Given the description of an element on the screen output the (x, y) to click on. 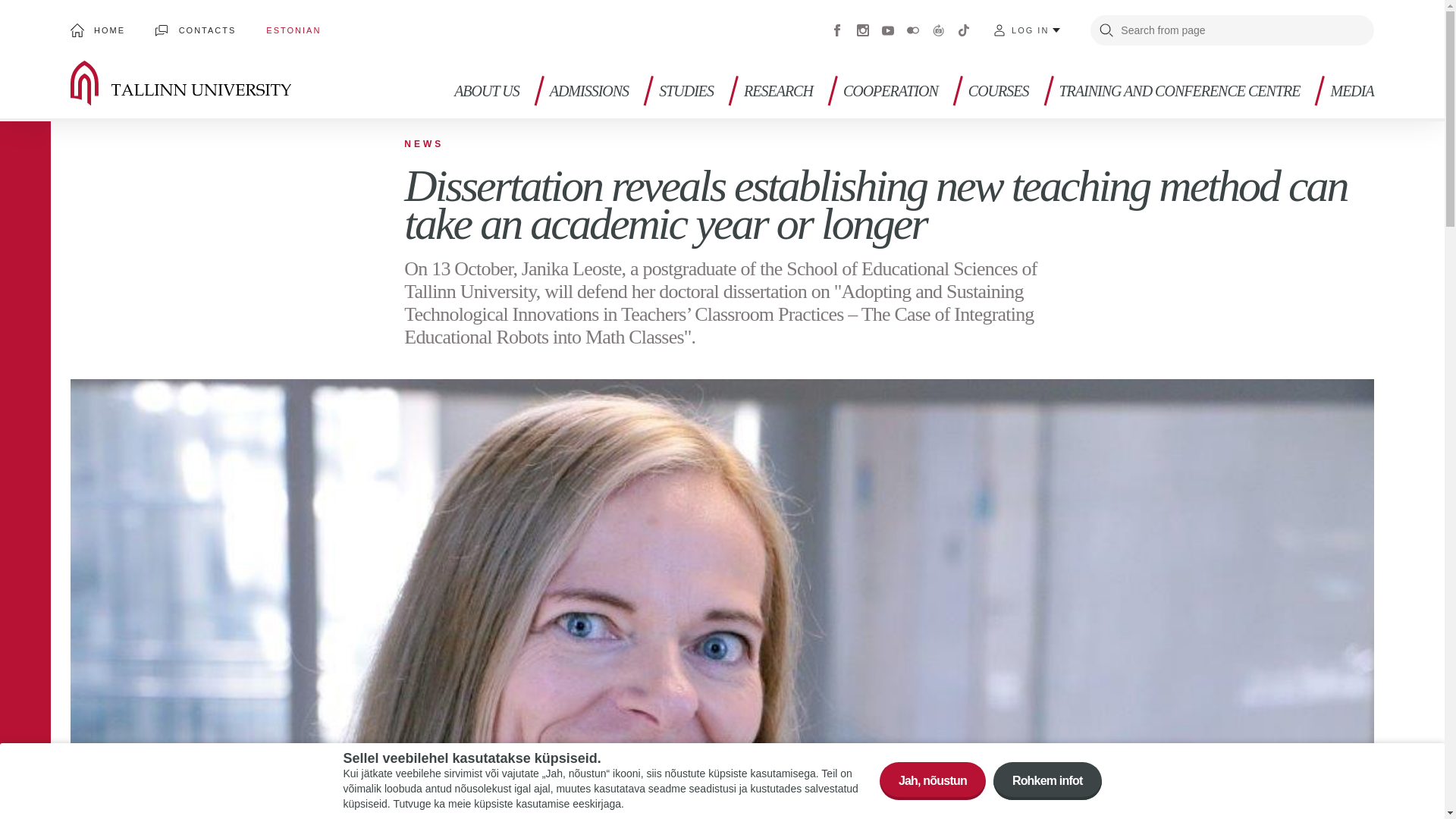
Facebook (836, 29)
Instagram (863, 29)
Tiktok (963, 29)
Youtube (887, 29)
Flickr (912, 29)
Virtuaaltuur (938, 29)
ESTONIAN (293, 29)
ABOUT US (486, 102)
Enter the terms you wish to search for. (1231, 30)
Flickr (912, 29)
Home (202, 83)
LOG IN (1026, 29)
Youtube (887, 29)
Instagram (863, 29)
HOME (97, 29)
